Given the description of an element on the screen output the (x, y) to click on. 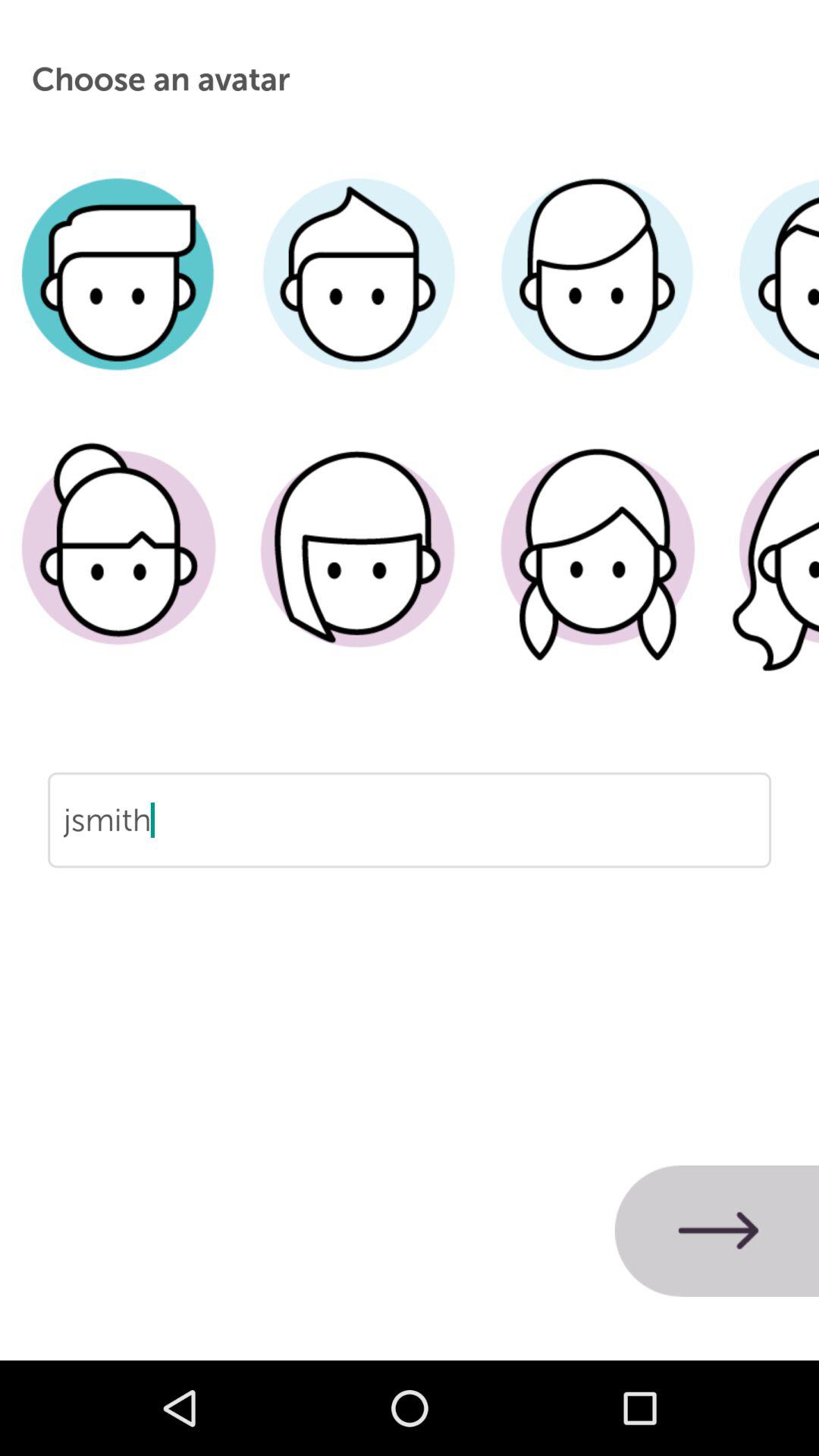
select face (119, 570)
